Given the description of an element on the screen output the (x, y) to click on. 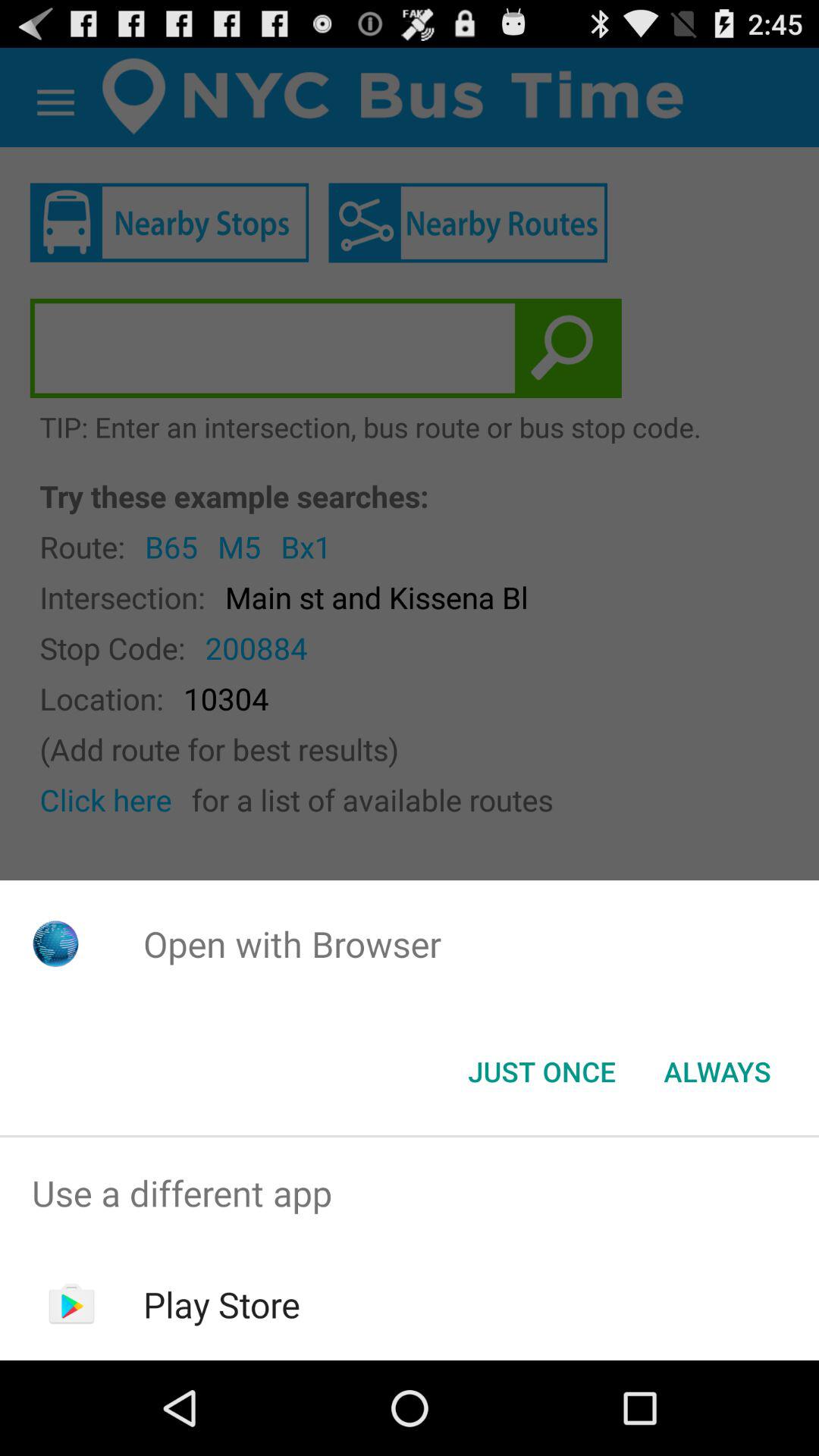
launch the app below the open with browser app (717, 1071)
